Given the description of an element on the screen output the (x, y) to click on. 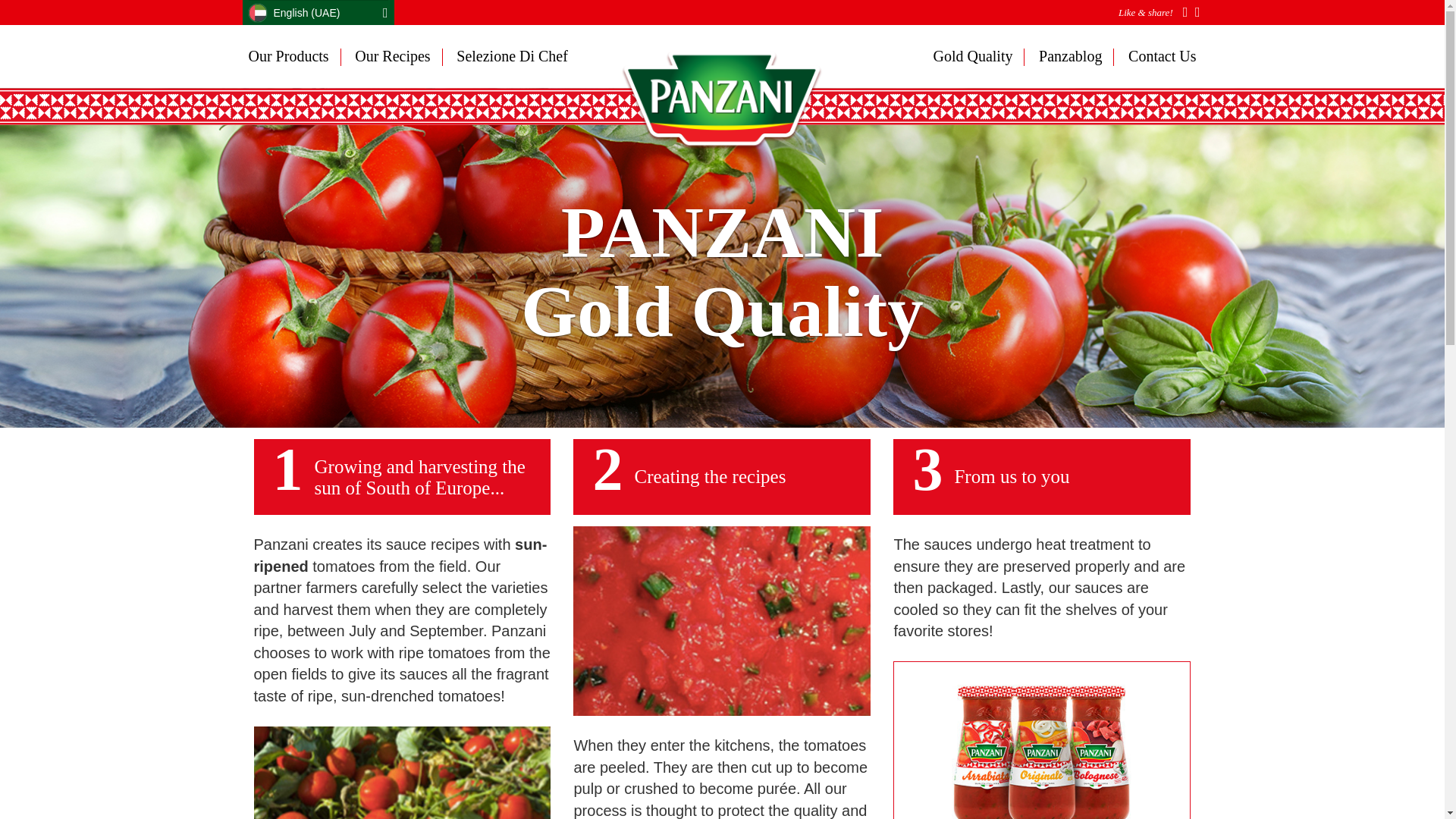
Our Products (294, 55)
Our Recipes (392, 55)
Contact Us (1155, 55)
Gold Quality (978, 55)
Selezione Di Chef (506, 55)
Panzablog (1070, 55)
